Given the description of an element on the screen output the (x, y) to click on. 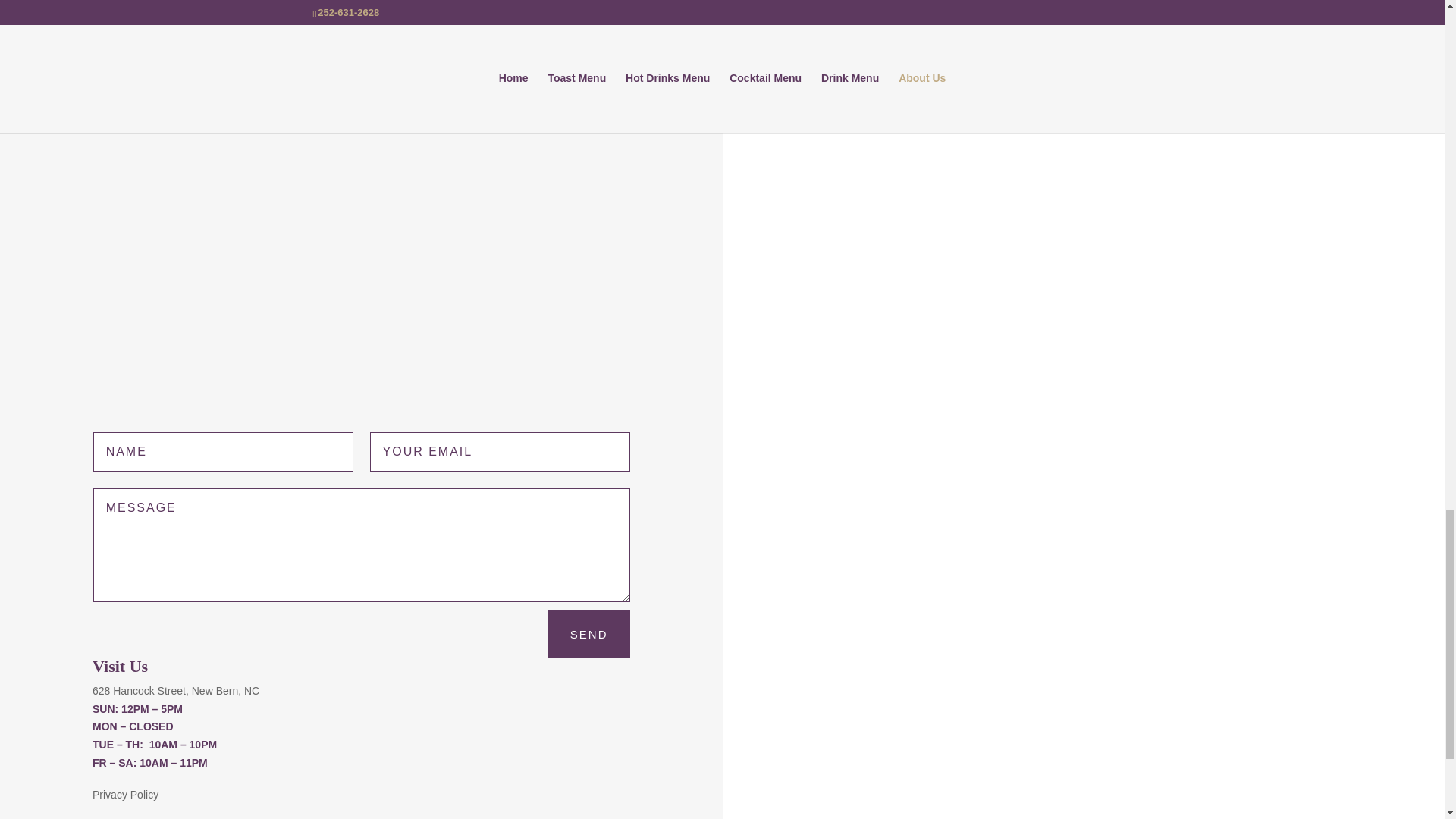
SEND (589, 634)
